Given the description of an element on the screen output the (x, y) to click on. 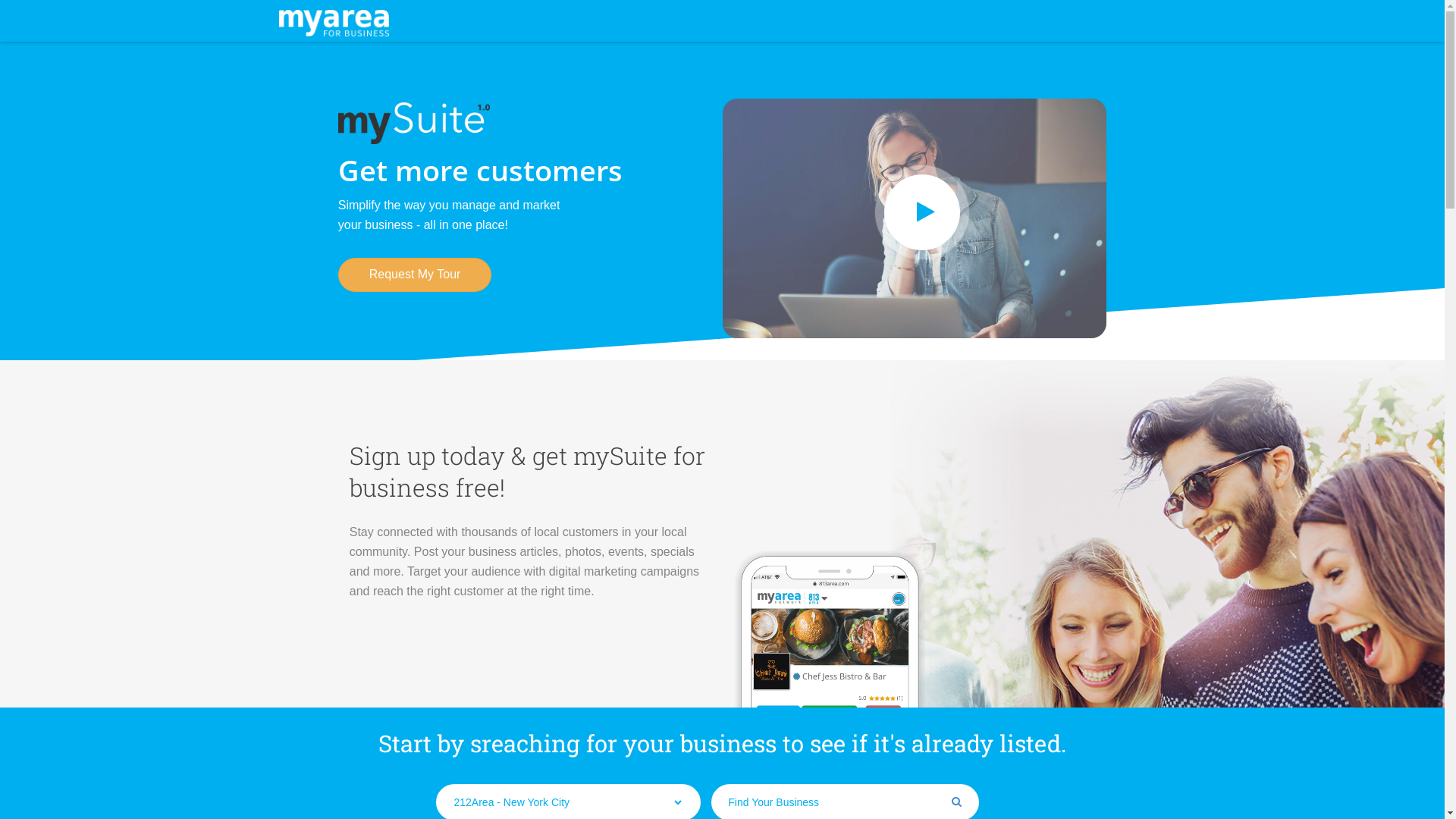
submit Element type: text (955, 801)
Request My Tour Element type: text (415, 274)
